Given the description of an element on the screen output the (x, y) to click on. 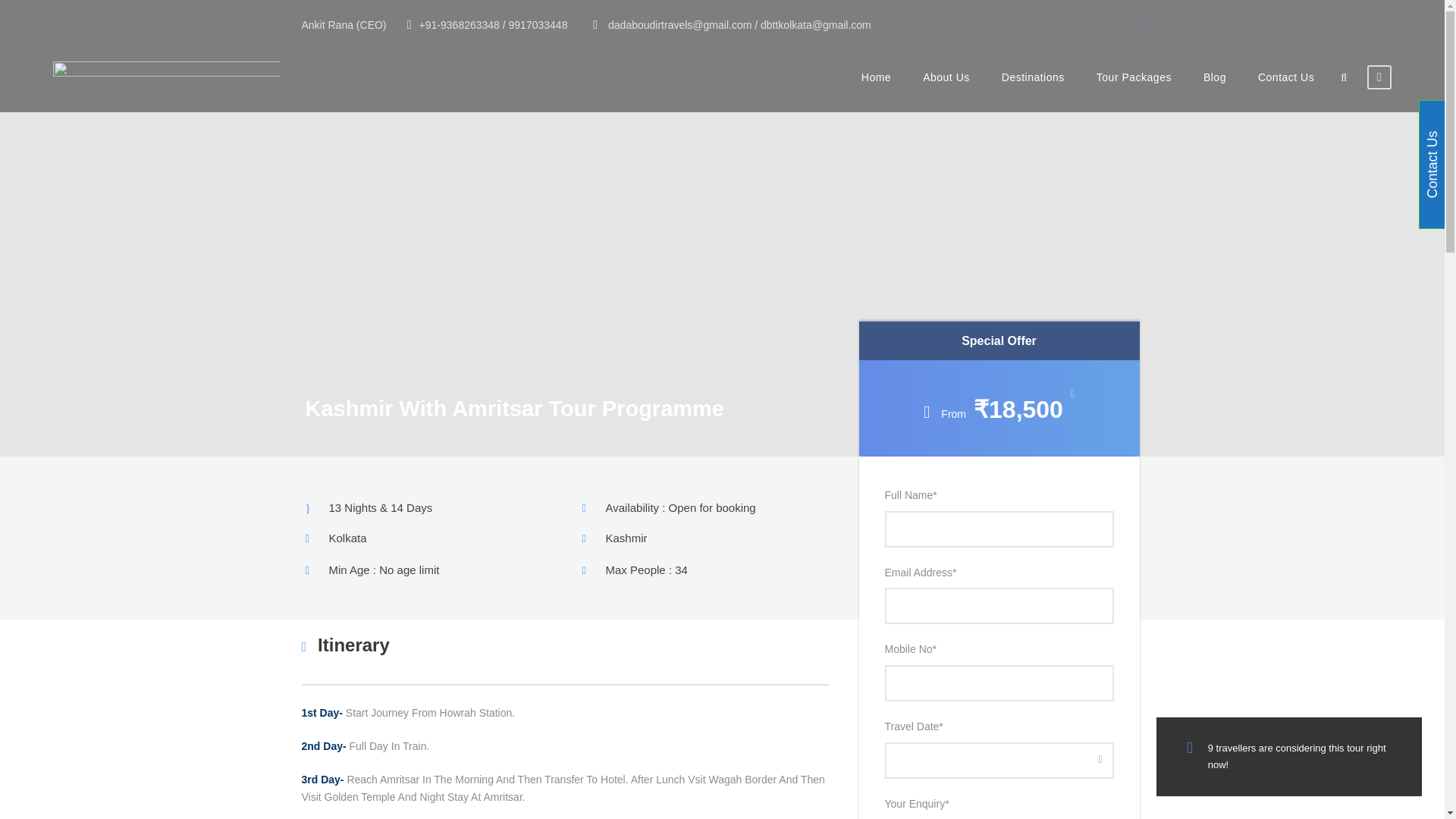
About Us (946, 90)
Destinations (1032, 90)
Tour Packages (1134, 90)
Contact Us (1285, 90)
